Given the description of an element on the screen output the (x, y) to click on. 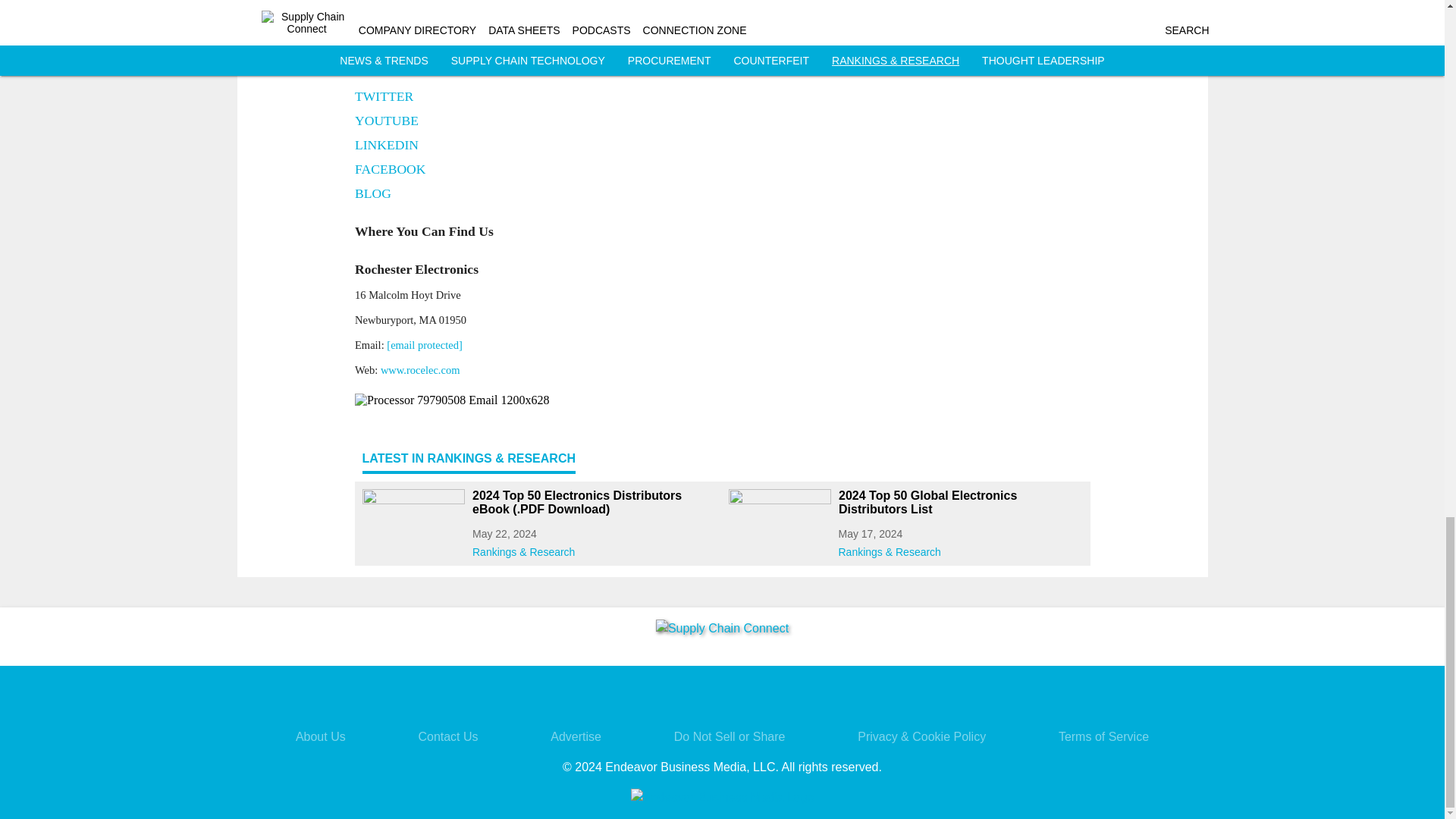
Processor 79790508 Email 1200x628 (722, 400)
LINKEDIN (387, 145)
www.rocelec.com (420, 369)
FACEBOOK (390, 169)
YOUTUBE (387, 120)
BLOG (373, 193)
2024 Top 50 Global Electronics Distributors List (960, 502)
About Us (320, 736)
TWITTER (384, 96)
